Given the description of an element on the screen output the (x, y) to click on. 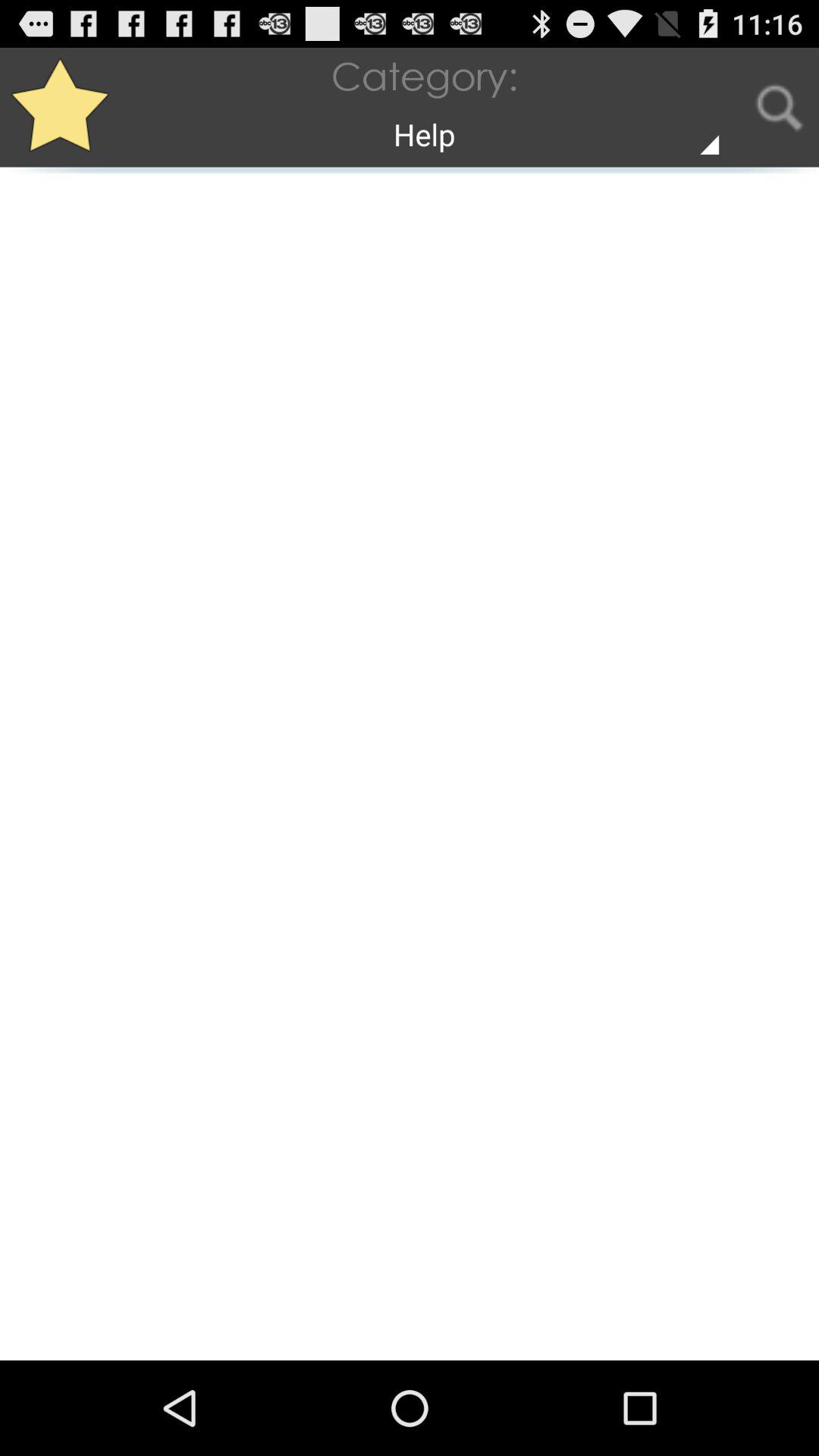
start search (779, 107)
